Given the description of an element on the screen output the (x, y) to click on. 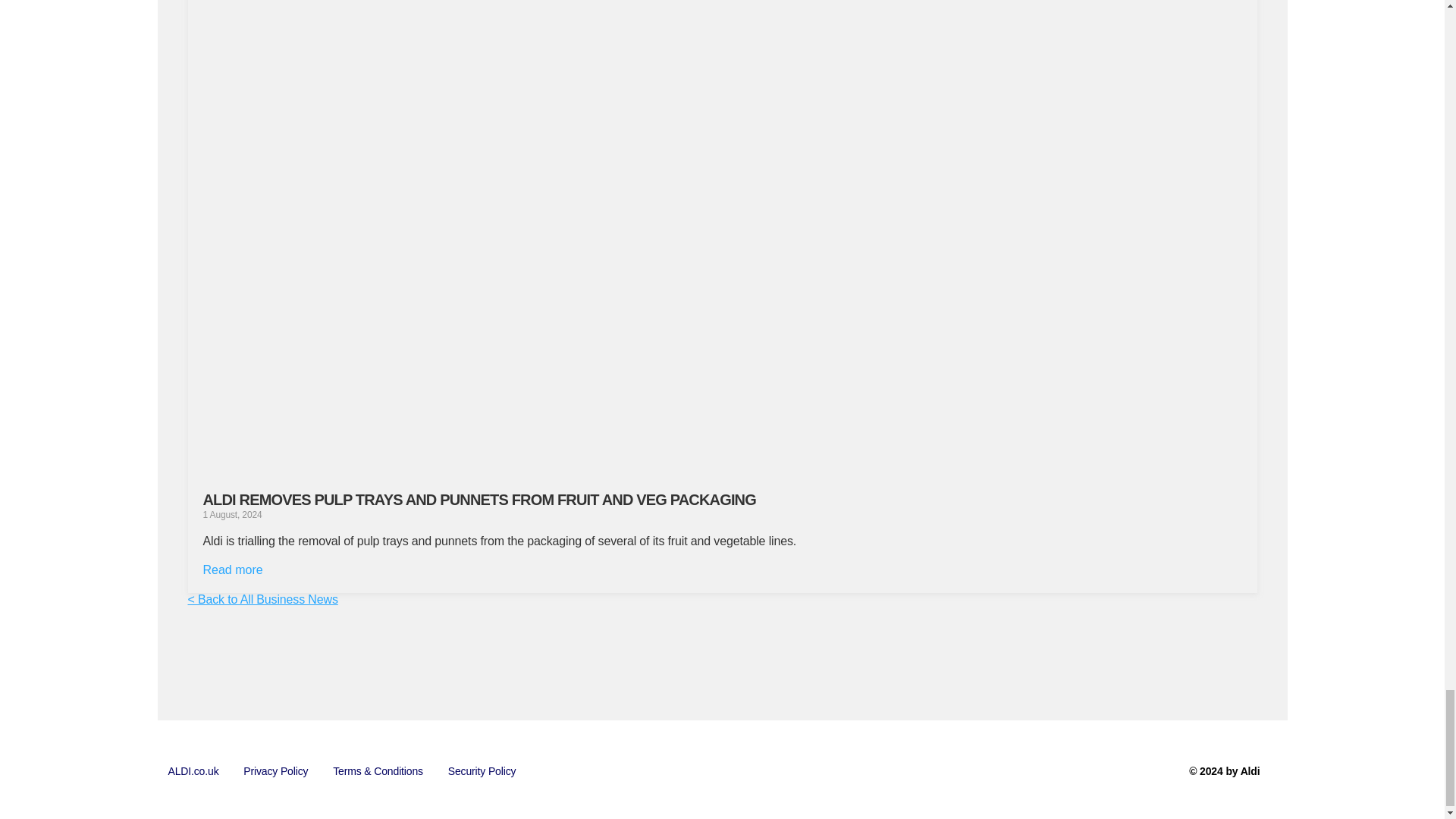
Security Policy (482, 771)
ALDI.co.uk (193, 771)
Privacy Policy (275, 771)
